Given the description of an element on the screen output the (x, y) to click on. 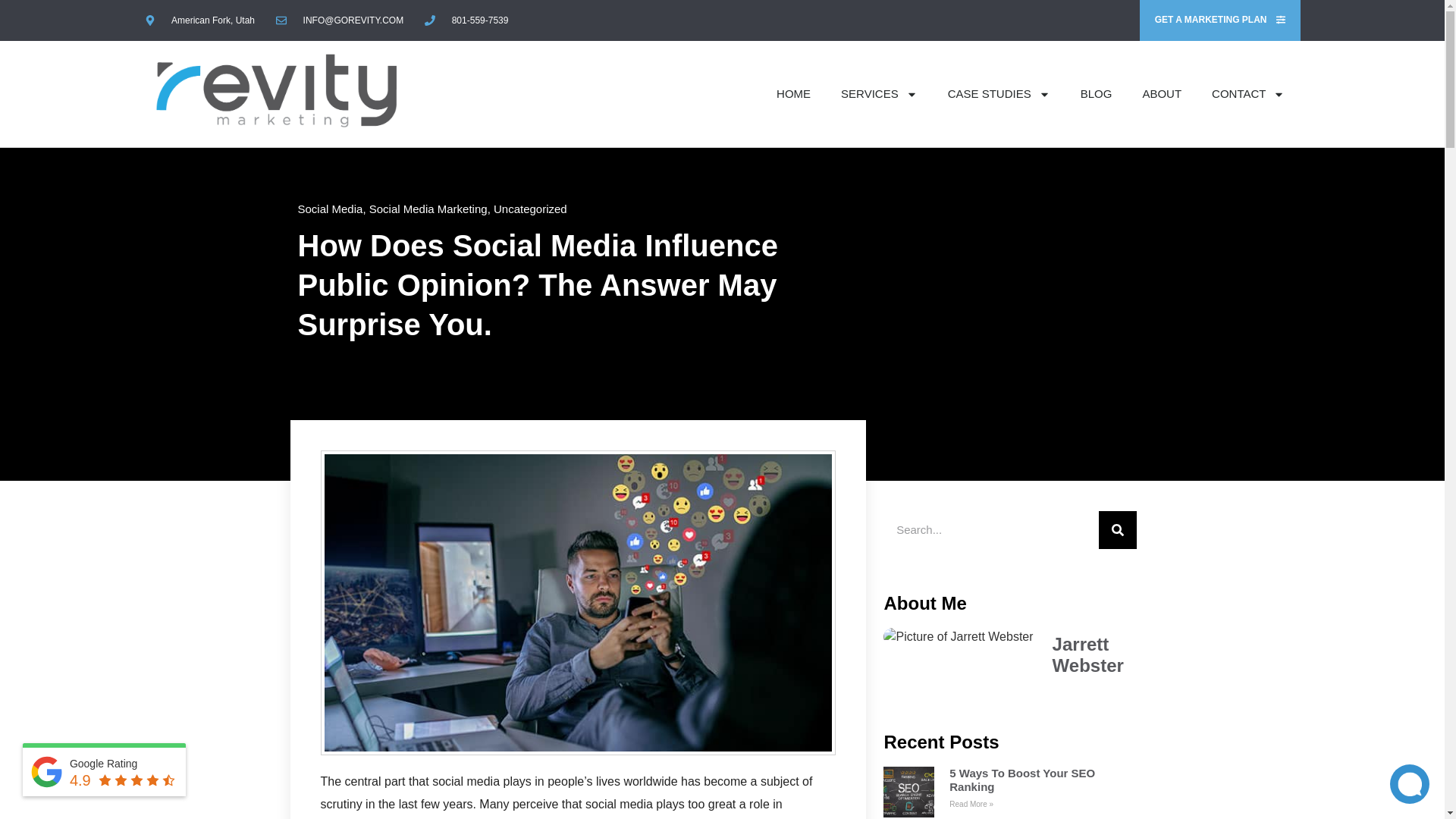
ABOUT (1161, 93)
801-559-7539 (466, 20)
GET A MARKETING PLAN (1220, 20)
HOME (793, 93)
SERVICES (879, 93)
CASE STUDIES (999, 93)
BLOG (1095, 93)
CONTACT (1248, 93)
